Given the description of an element on the screen output the (x, y) to click on. 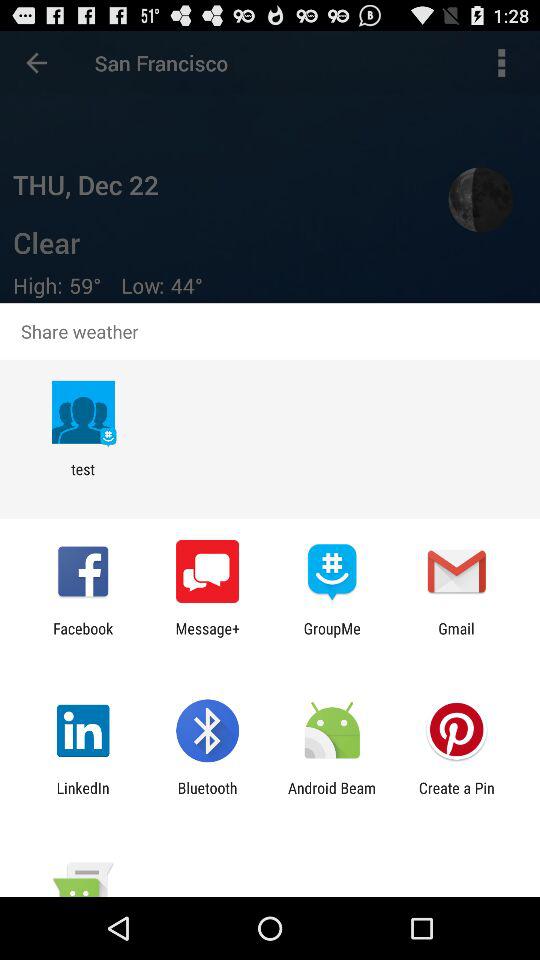
swipe to android beam (332, 796)
